Given the description of an element on the screen output the (x, y) to click on. 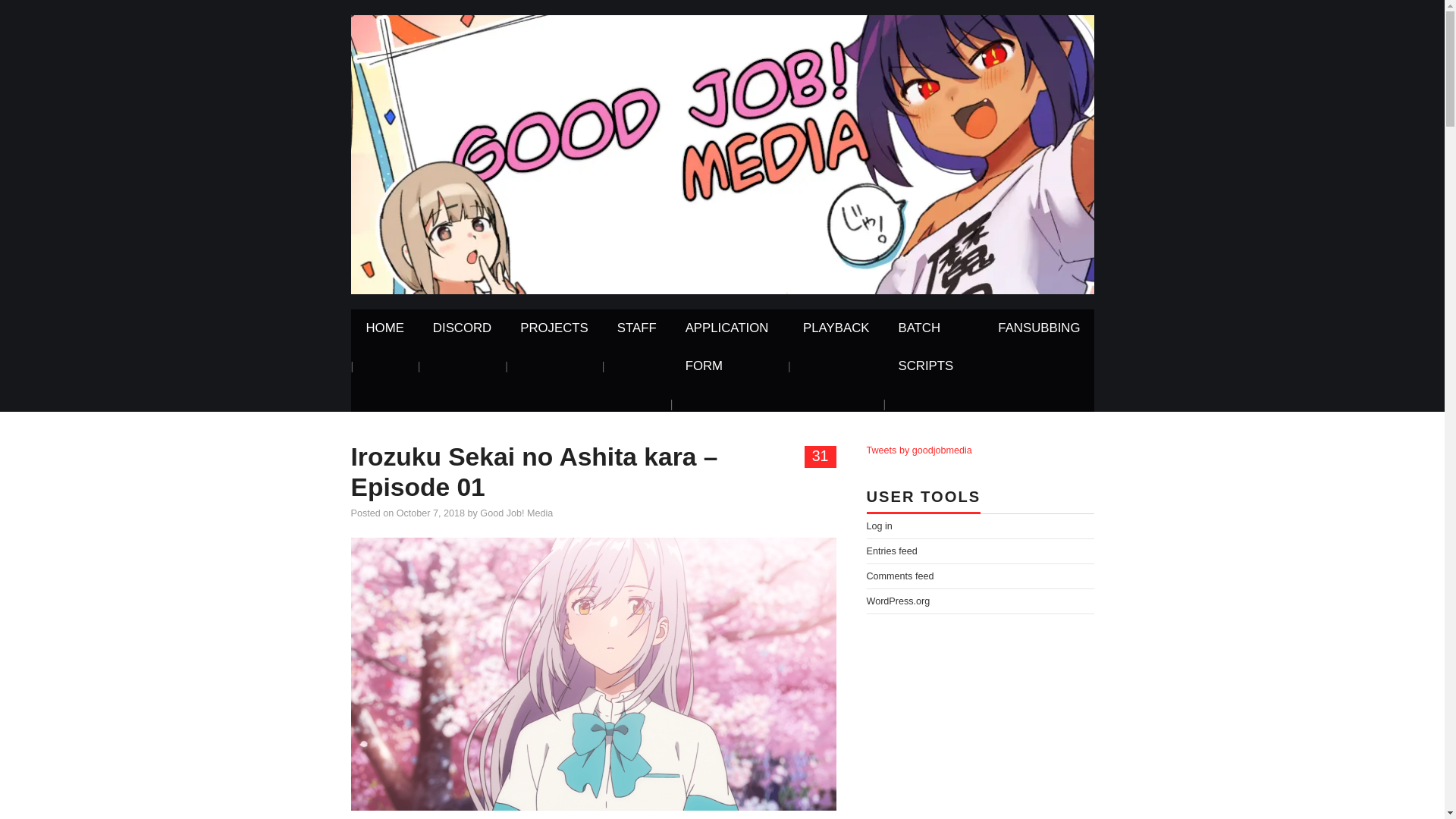
October 7, 2018 (430, 512)
APPLICATION FORM (729, 346)
View all posts by Good Job! Media (516, 512)
31 (820, 456)
FANSUBBING (1038, 328)
HOME (384, 328)
external (933, 346)
PLAYBACK (835, 328)
DISCORD (461, 328)
PROJECTS (554, 328)
BATCH SCRIPTS (933, 346)
Good Job! Media (516, 512)
11:01 pm (430, 512)
Good Job! Media (721, 152)
STAFF (636, 328)
